Given the description of an element on the screen output the (x, y) to click on. 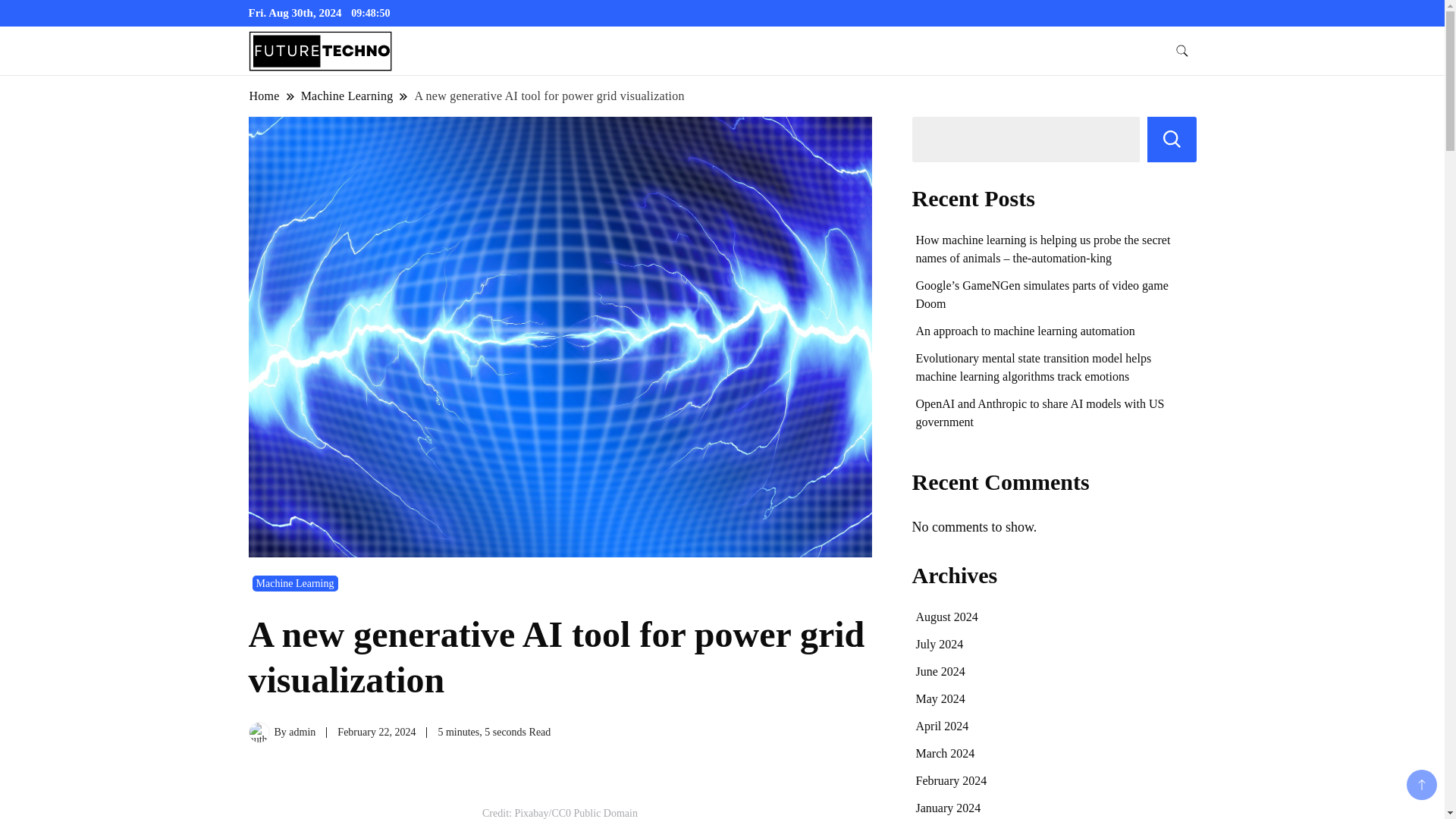
A new generative AI tool for power grid visualization (548, 95)
Home (264, 95)
Machine Learning (346, 95)
Machine Learning (294, 583)
February 22, 2024 (375, 731)
admin (301, 731)
FUTURE TECHNO (481, 67)
